Given the description of an element on the screen output the (x, y) to click on. 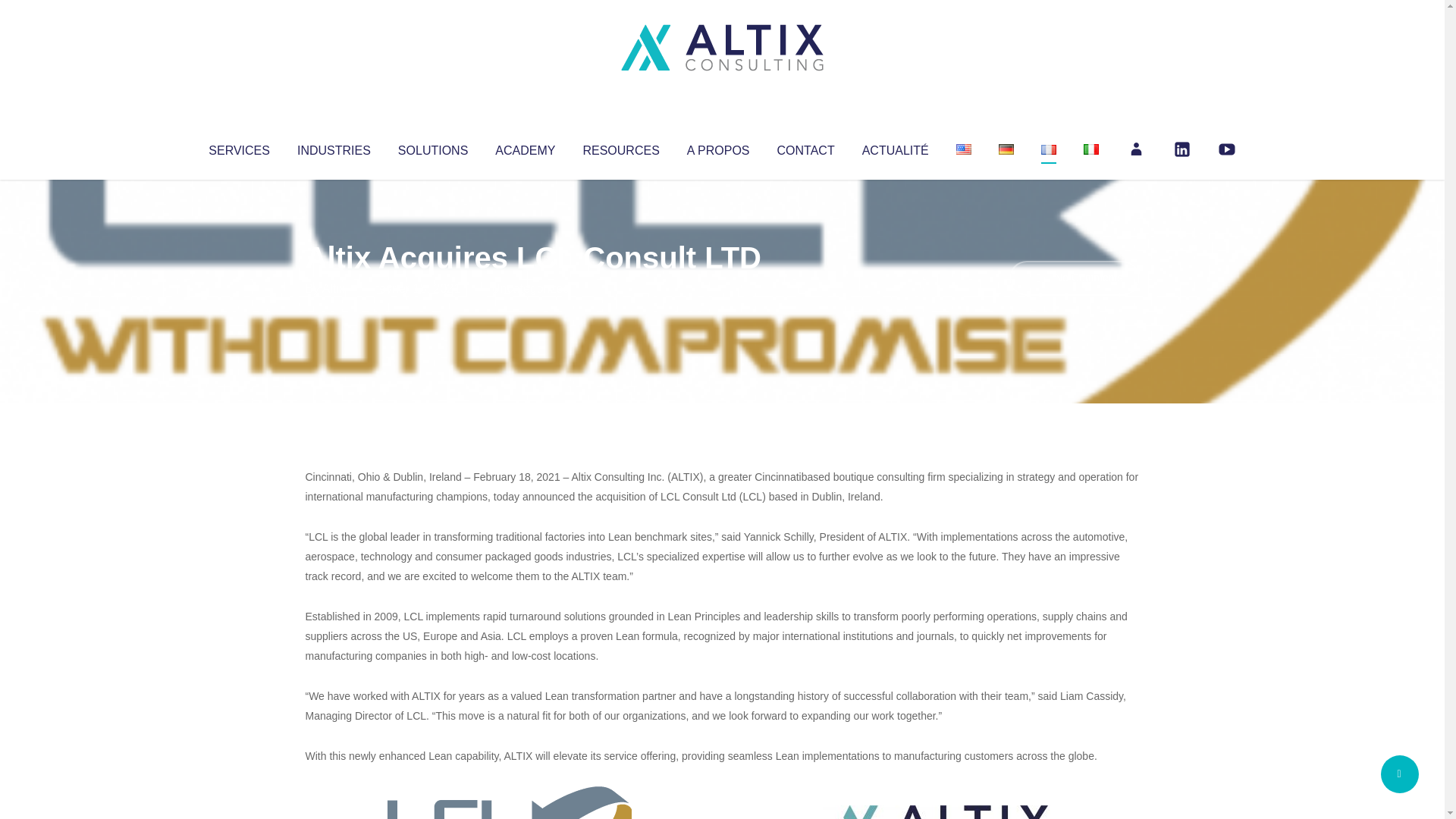
Articles par Altix (333, 287)
ACADEMY (524, 146)
Uncategorized (530, 287)
A PROPOS (718, 146)
RESOURCES (620, 146)
Altix (333, 287)
INDUSTRIES (334, 146)
SOLUTIONS (432, 146)
SERVICES (238, 146)
No Comments (1073, 278)
